Given the description of an element on the screen output the (x, y) to click on. 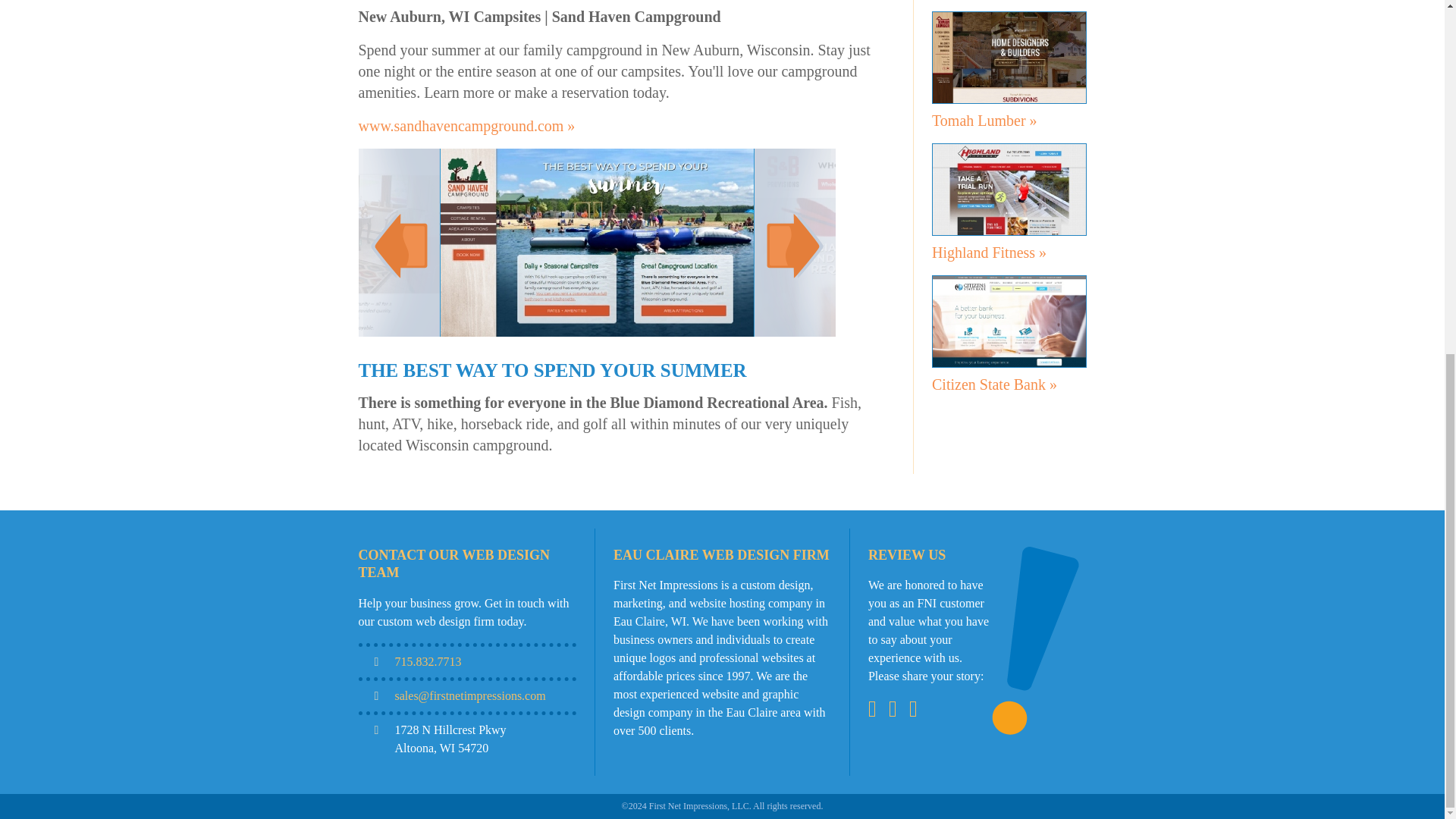
View more about Tomah Lumber (983, 120)
View more about Citizen State Bank (1008, 321)
View more about Highland Fitness (1008, 189)
View more about Highland Fitness (988, 252)
First Net Impressions, LLC. (700, 805)
715.832.7713 (427, 661)
VIEW ALL (1008, 425)
View more about Citizen State Bank (994, 384)
View more about Tomah Lumber (1008, 57)
